Given the description of an element on the screen output the (x, y) to click on. 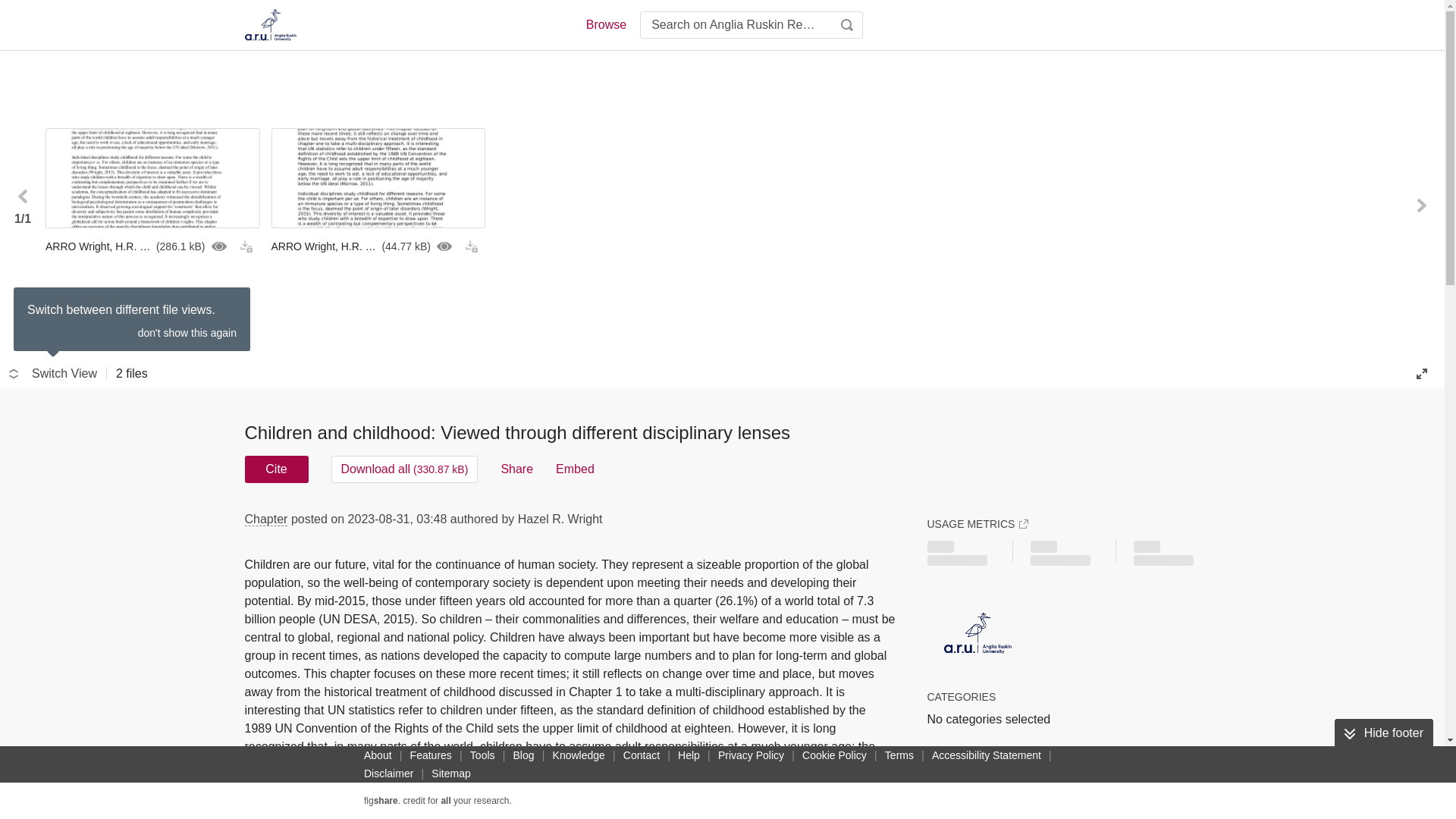
Cite (275, 469)
Hide footer (1383, 733)
Features (431, 755)
Share (516, 469)
USAGE METRICS (976, 523)
Switch View (52, 373)
About (377, 755)
Tools (482, 755)
Browse (605, 24)
don't show this again (186, 332)
